Given the description of an element on the screen output the (x, y) to click on. 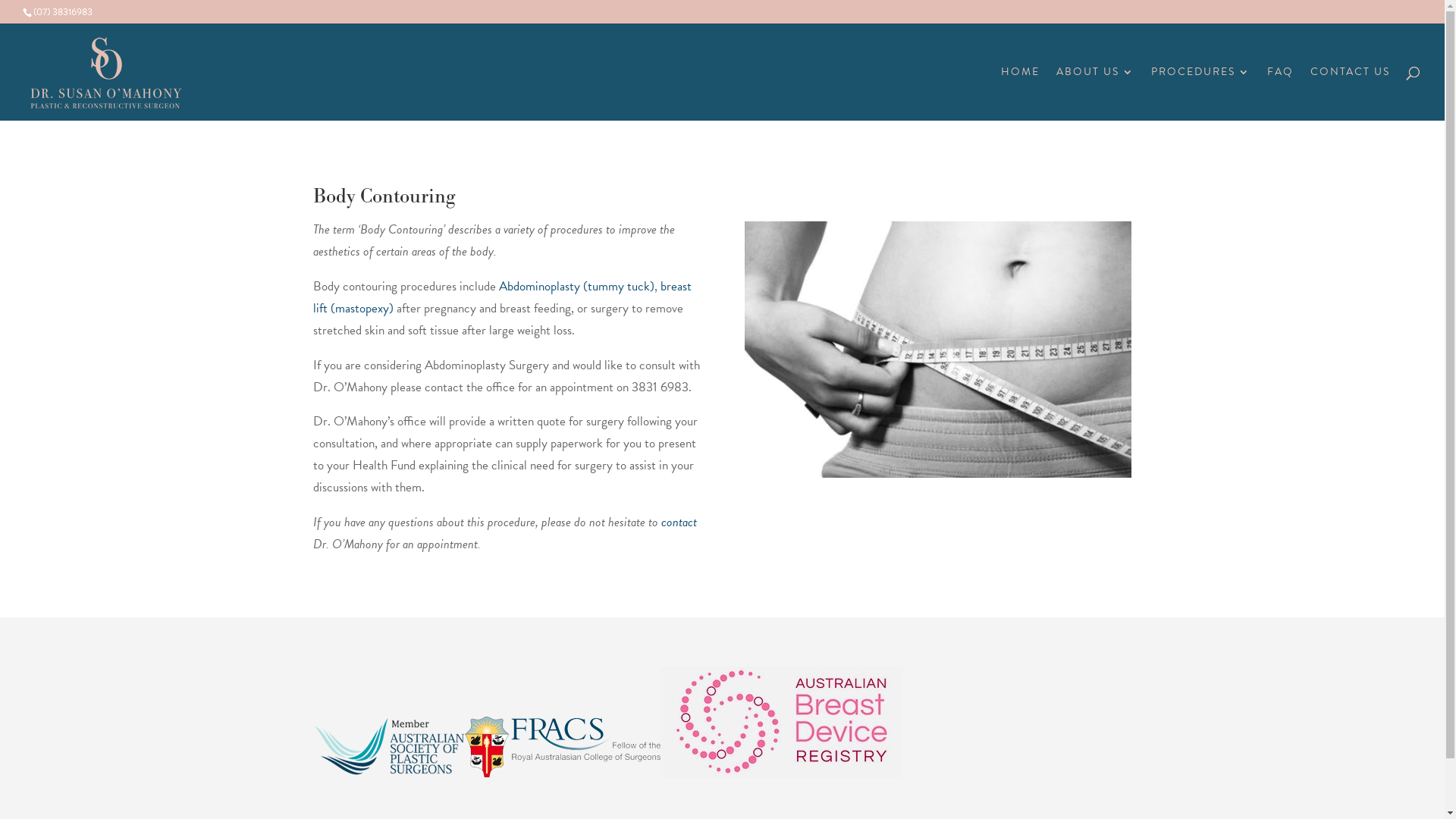
CONTACT US Element type: text (1350, 93)
PROCEDURES Element type: text (1200, 93)
FAQ Element type: text (1280, 93)
breast lift (mastopexy) Element type: text (501, 296)
ABOUT US Element type: text (1095, 93)
contact Element type: text (678, 521)
Abdominoplasty (tummy tuck) Element type: text (576, 285)
HOME Element type: text (1020, 93)
(07) 38316983 Element type: text (62, 11)
